Given the description of an element on the screen output the (x, y) to click on. 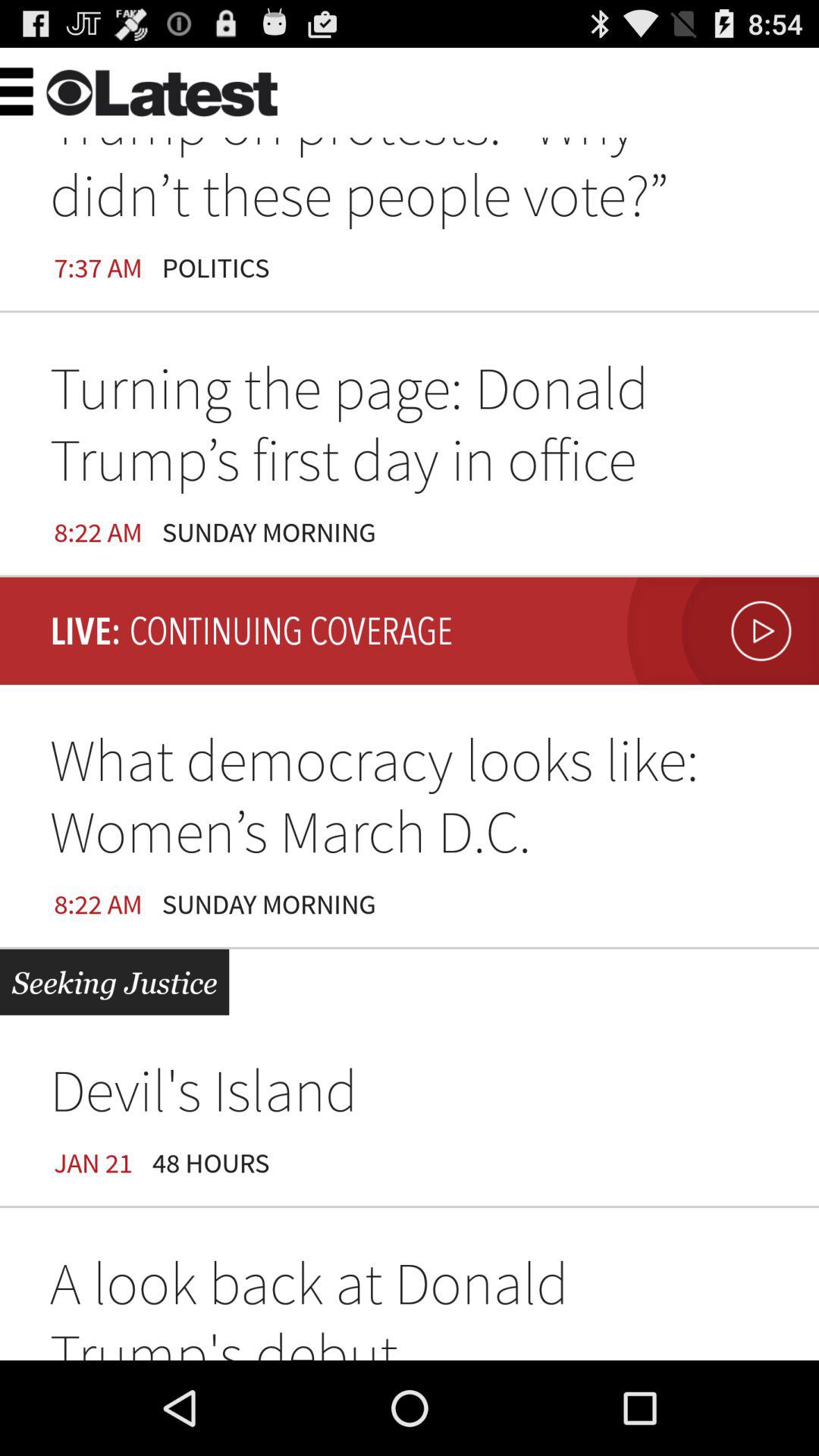
open the item on the right (719, 630)
